Given the description of an element on the screen output the (x, y) to click on. 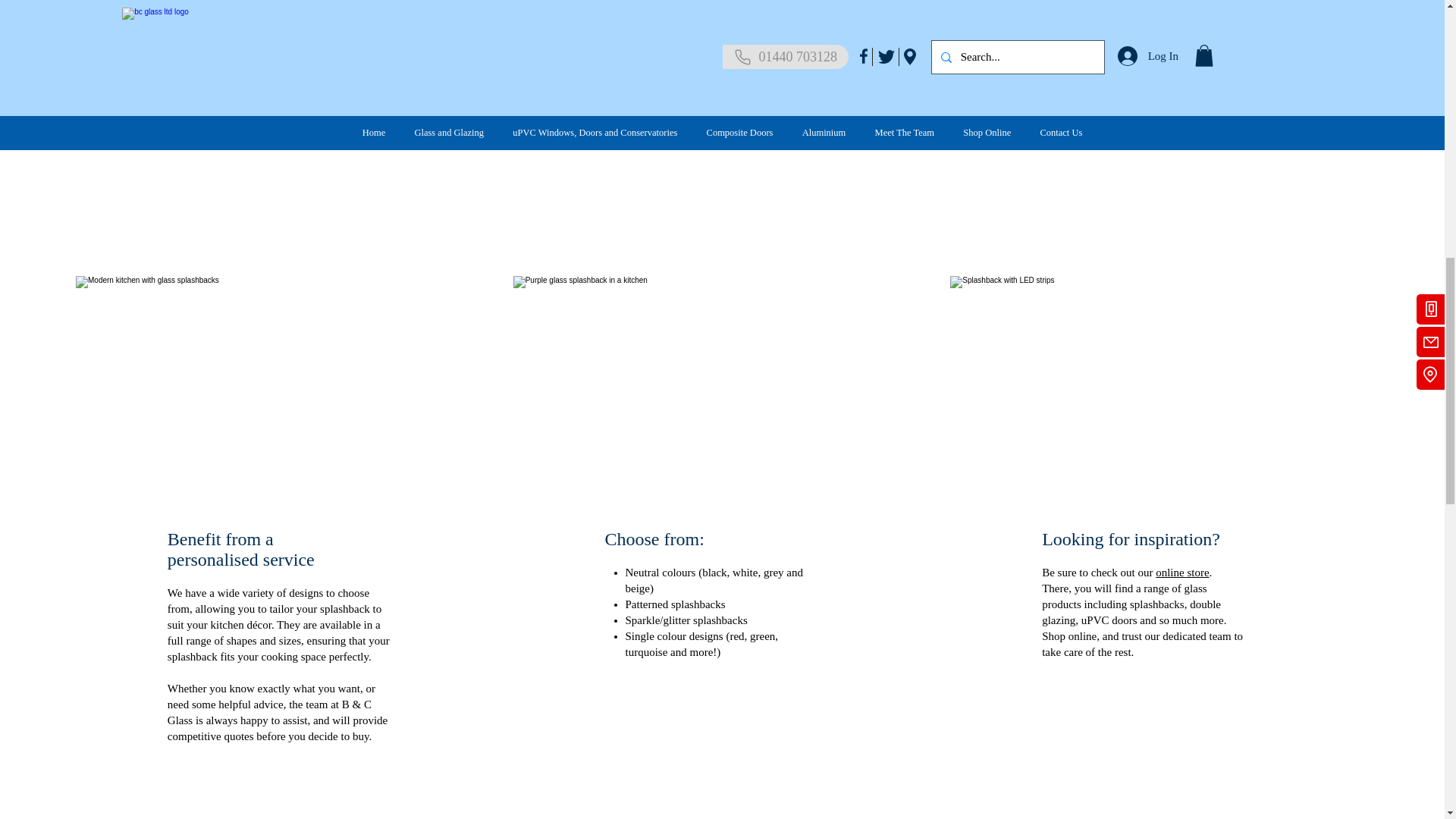
online store (1182, 572)
